Given the description of an element on the screen output the (x, y) to click on. 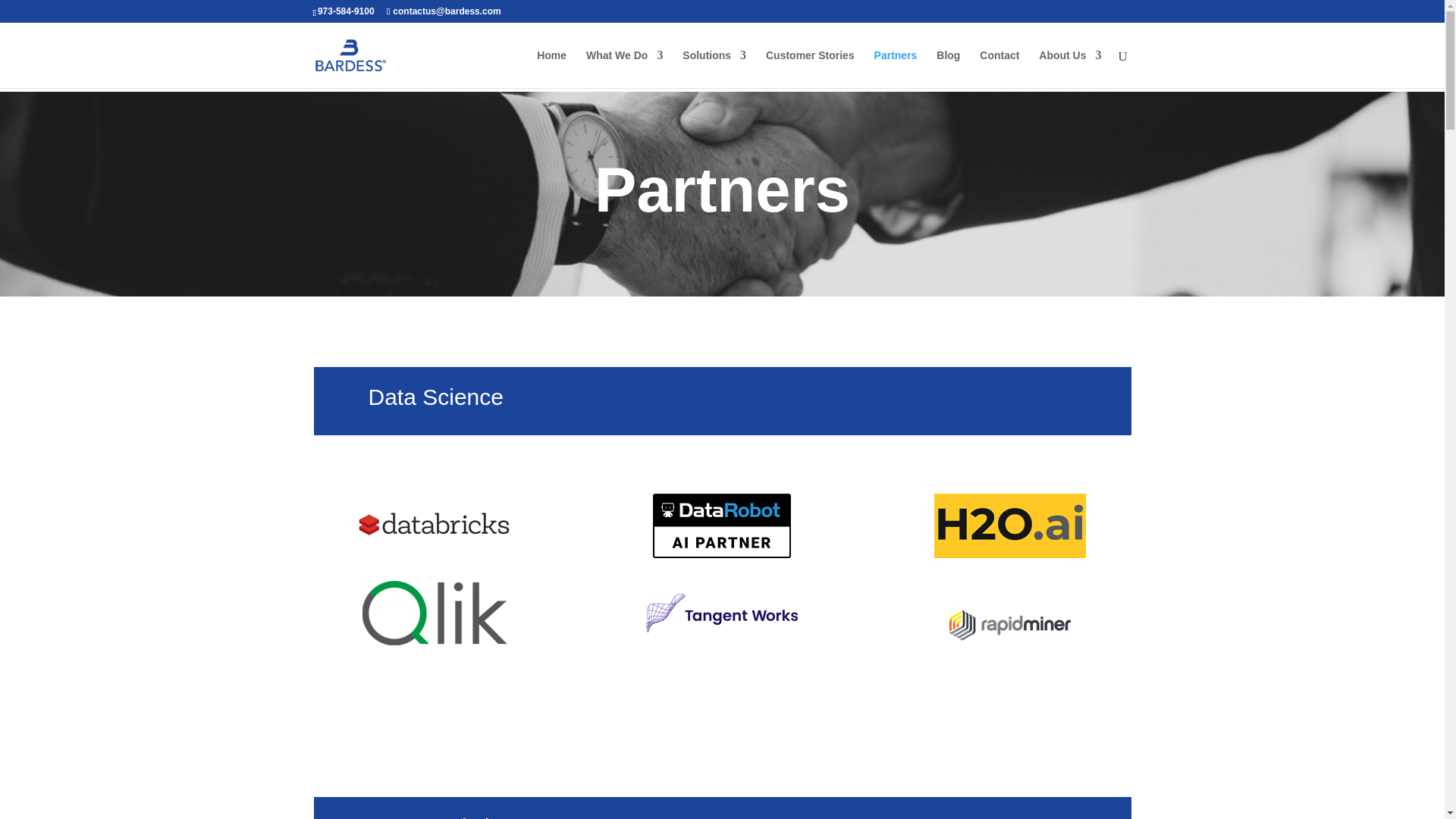
Partners (896, 68)
About Us (1069, 68)
Qlik 2024 (434, 612)
Contact (999, 68)
Customer Stories (809, 68)
H2O (1010, 525)
Solutions (713, 68)
Databricks (434, 525)
What We Do (624, 68)
